Given the description of an element on the screen output the (x, y) to click on. 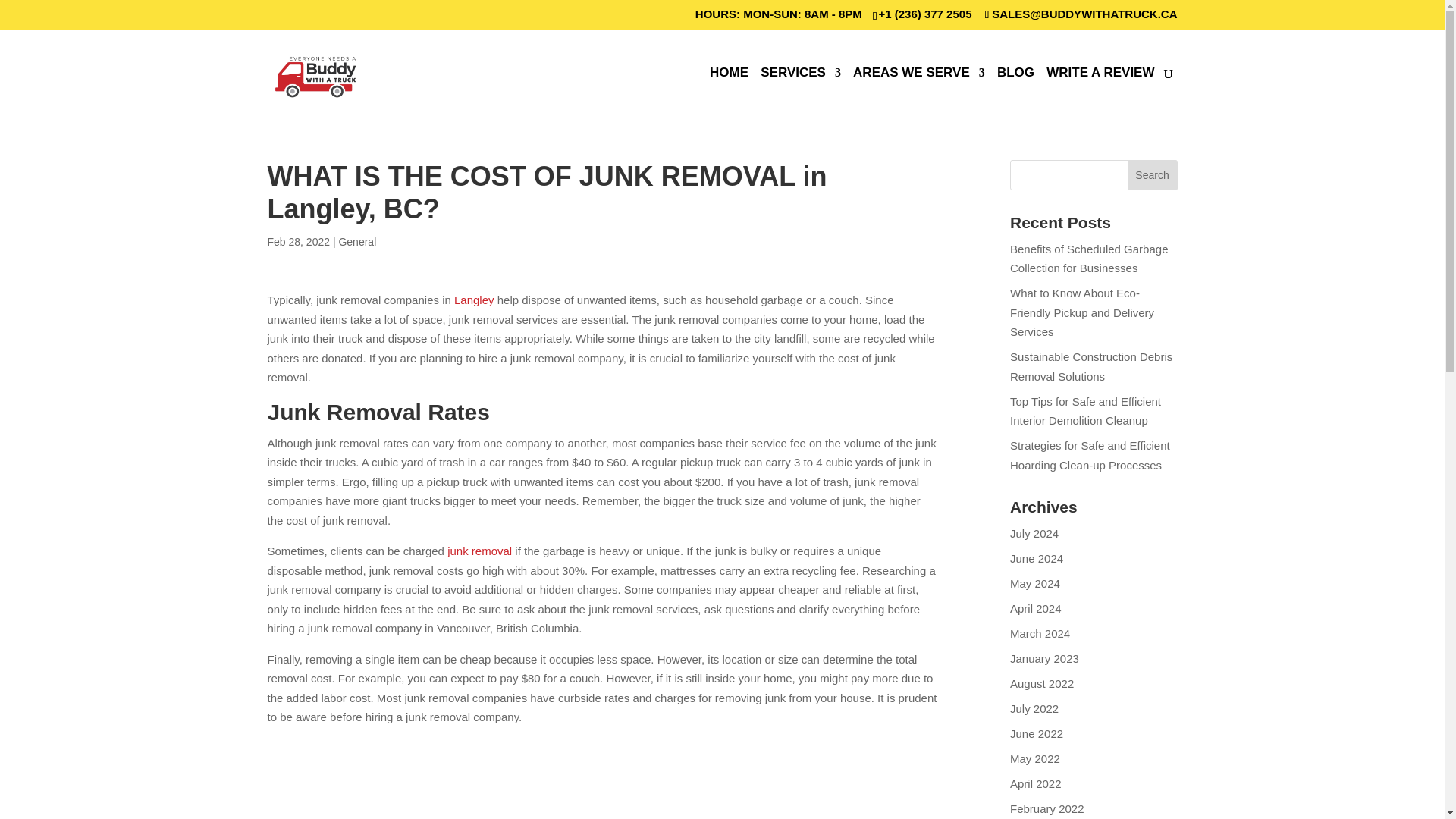
Langley (474, 299)
Search (1151, 173)
junk removal (479, 550)
AREAS WE SERVE (919, 90)
WRITE A REVIEW (1100, 90)
SERVICES (800, 90)
General (356, 241)
